Given the description of an element on the screen output the (x, y) to click on. 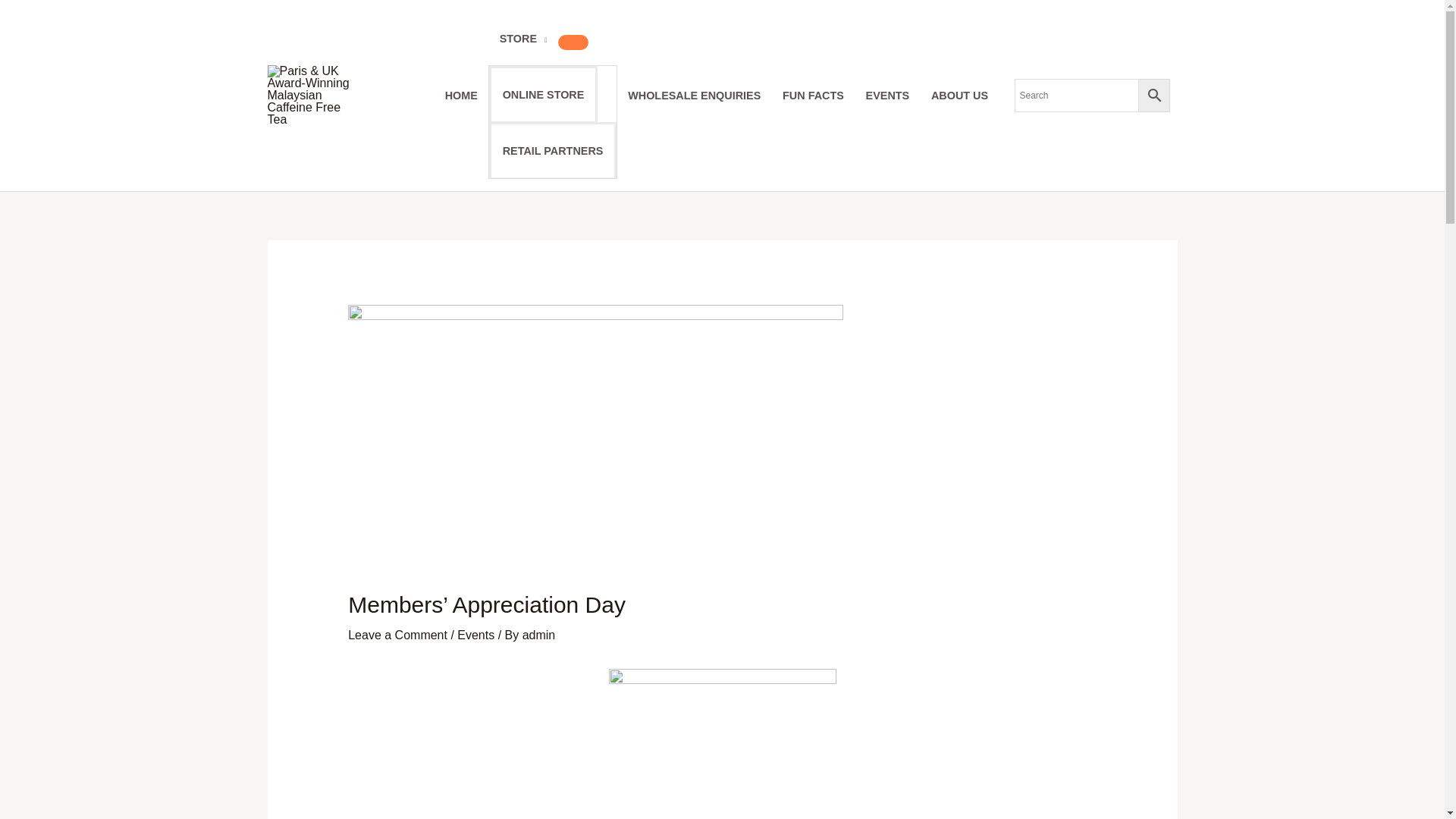
ABOUT US (959, 95)
WHOLESALE ENQUIRIES (694, 95)
FUN FACTS (813, 95)
Events (476, 634)
Leave a Comment (396, 634)
admin (539, 634)
STORE (522, 38)
RETAIL PARTNERS (552, 150)
HOME (460, 95)
MENU TOGGLE (572, 42)
EVENTS (887, 95)
View all posts by admin (539, 634)
ONLINE STORE (542, 94)
